Given the description of an element on the screen output the (x, y) to click on. 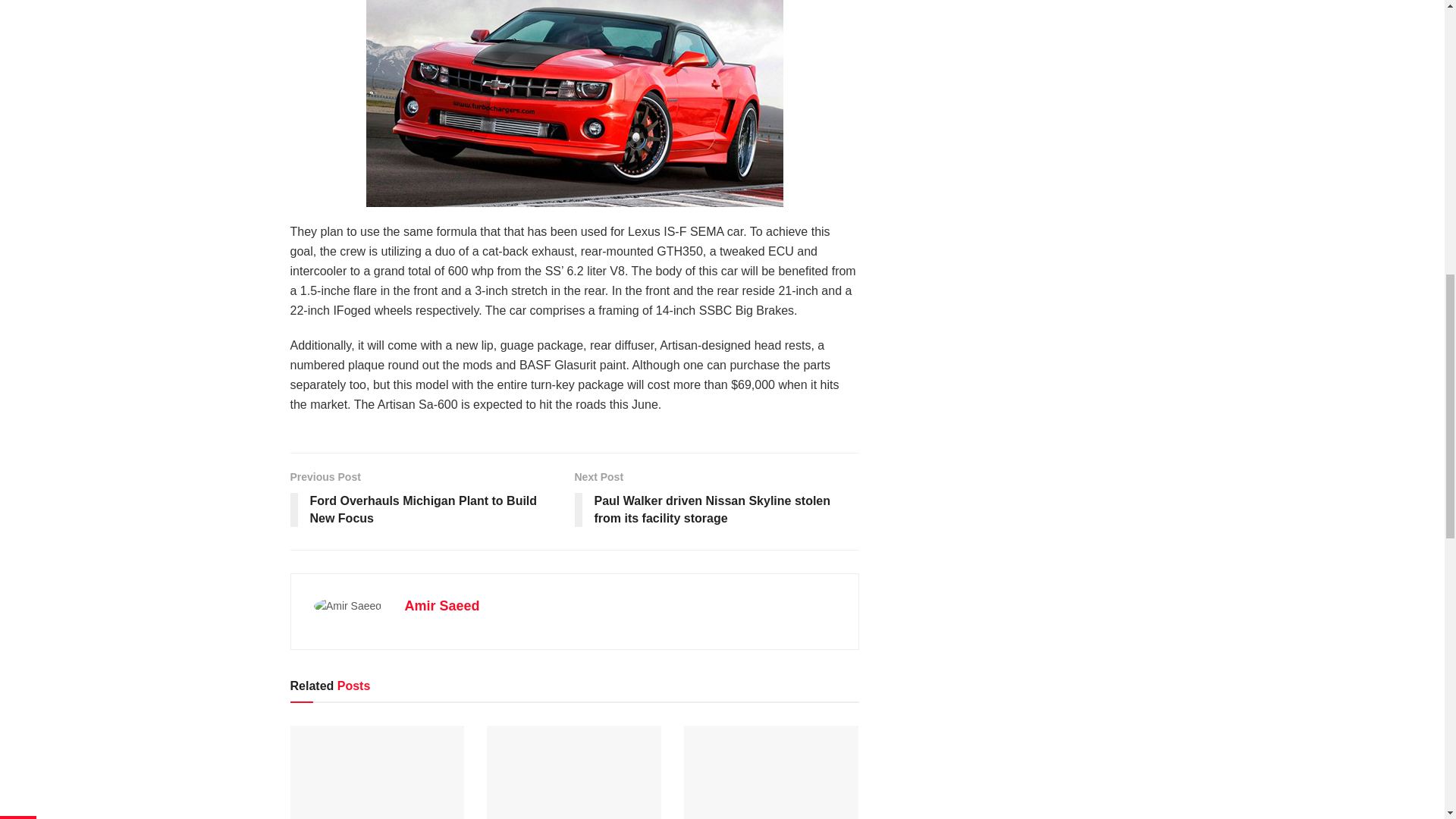
artisancamaross600 (574, 103)
